Given the description of an element on the screen output the (x, y) to click on. 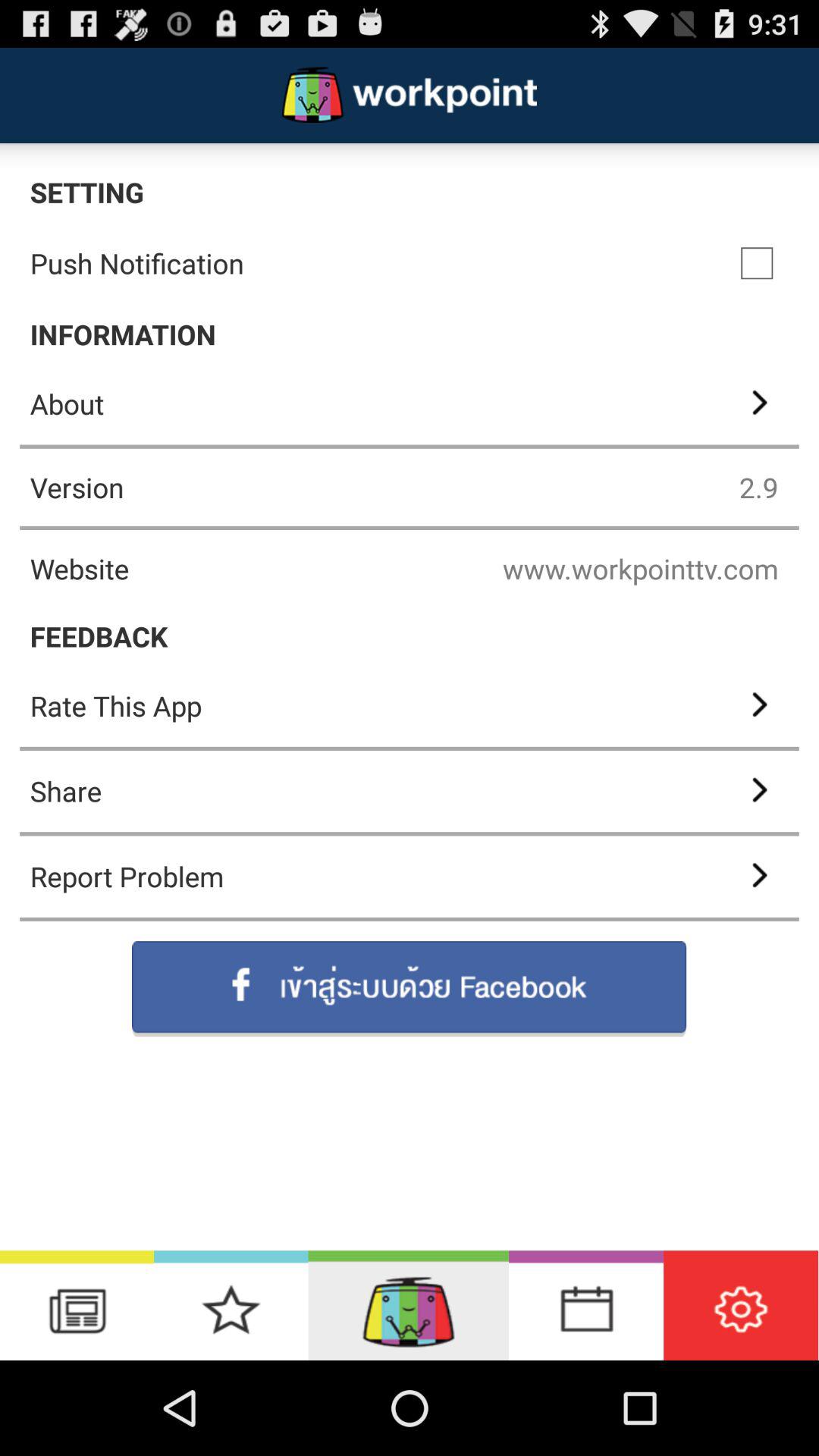
turn on item next to the push notification (756, 263)
